Given the description of an element on the screen output the (x, y) to click on. 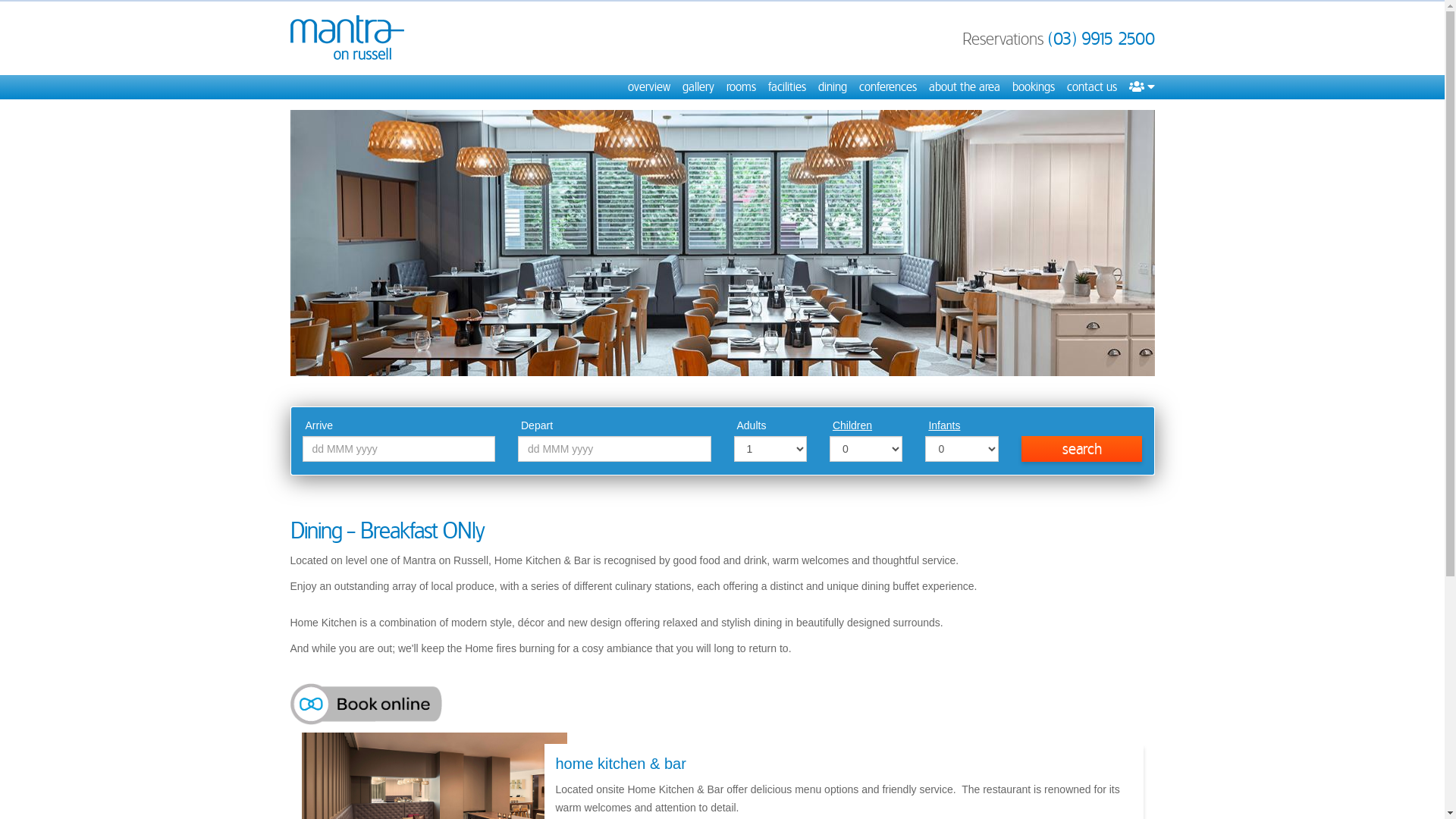
(03) 9915 2500 Element type: text (1101, 38)
gallery Element type: text (698, 87)
about the area Element type: text (963, 87)
bookings Element type: text (1032, 87)
overview Element type: text (648, 87)
rooms Element type: text (741, 87)
facilities Element type: text (786, 87)
search Element type: text (1081, 448)
dining Element type: text (831, 87)
contact us Element type: text (1091, 87)
conferences Element type: text (887, 87)
Home Kitchen & Bar - Mantra on Russell Melbourne Element type: hover (721, 242)
Mantra on Russell Element type: hover (346, 37)
